Given the description of an element on the screen output the (x, y) to click on. 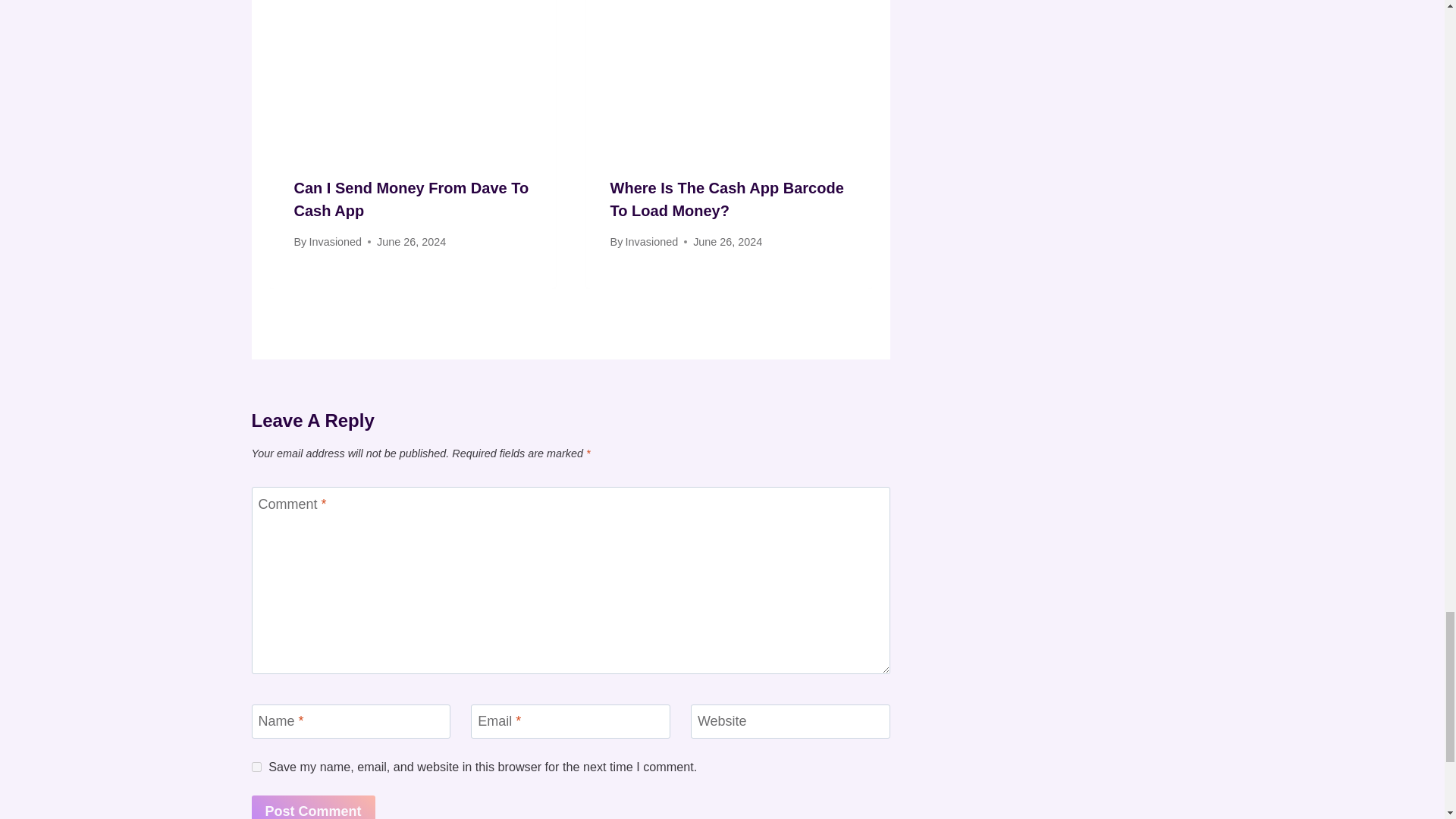
yes (256, 767)
Post Comment (313, 807)
